Given the description of an element on the screen output the (x, y) to click on. 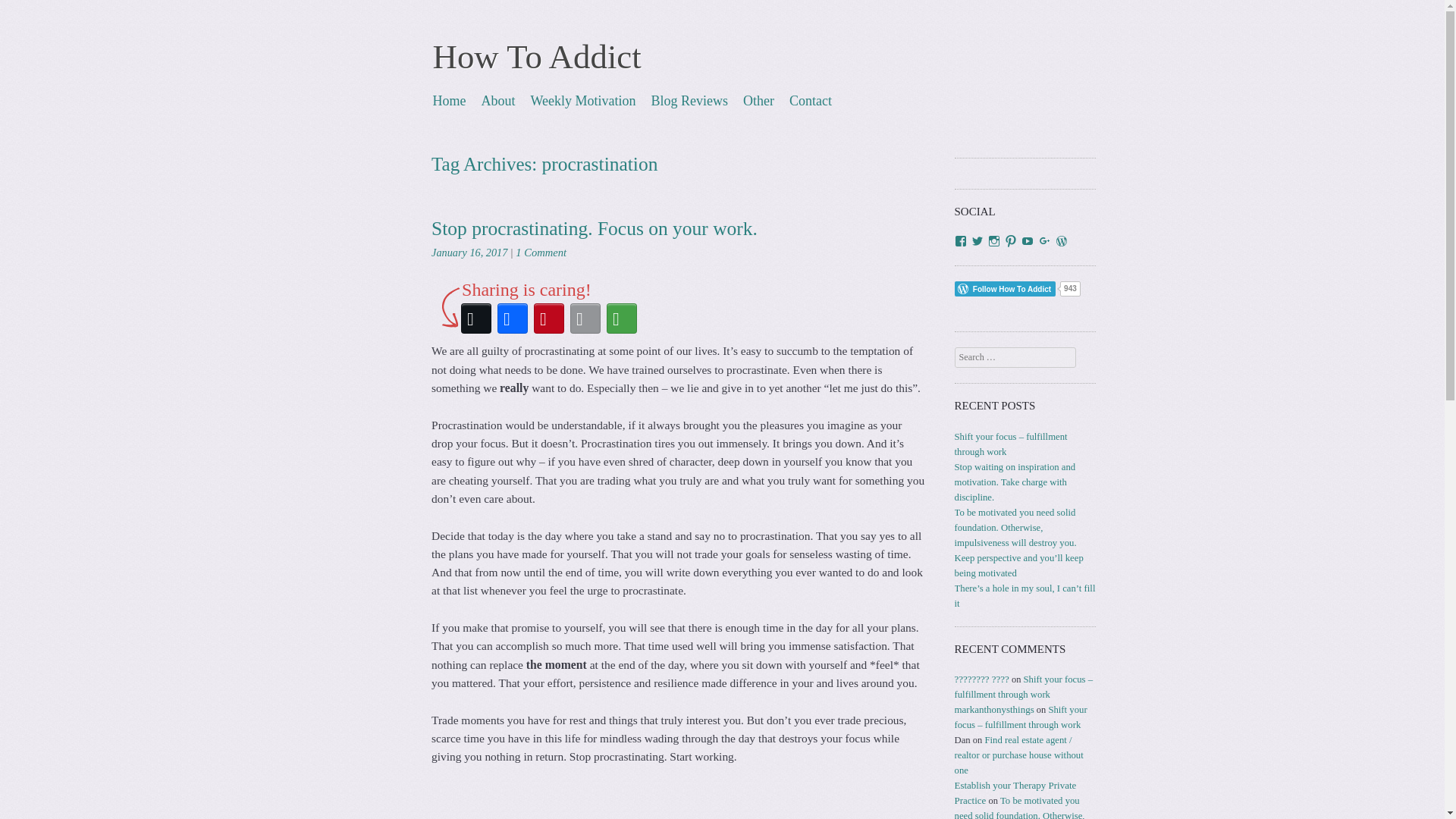
Advertisement (677, 801)
8:30 am (468, 252)
How To Addict (536, 56)
Stop procrastinating. Focus on your work. (593, 228)
Home (449, 100)
Blog Reviews (689, 100)
Skip to content (473, 100)
Contact (810, 100)
Email This (585, 318)
1 Comment (540, 252)
January 16, 2017 (468, 252)
Pinterest (549, 318)
How To Addict (536, 56)
About (497, 100)
More Options (622, 318)
